Given the description of an element on the screen output the (x, y) to click on. 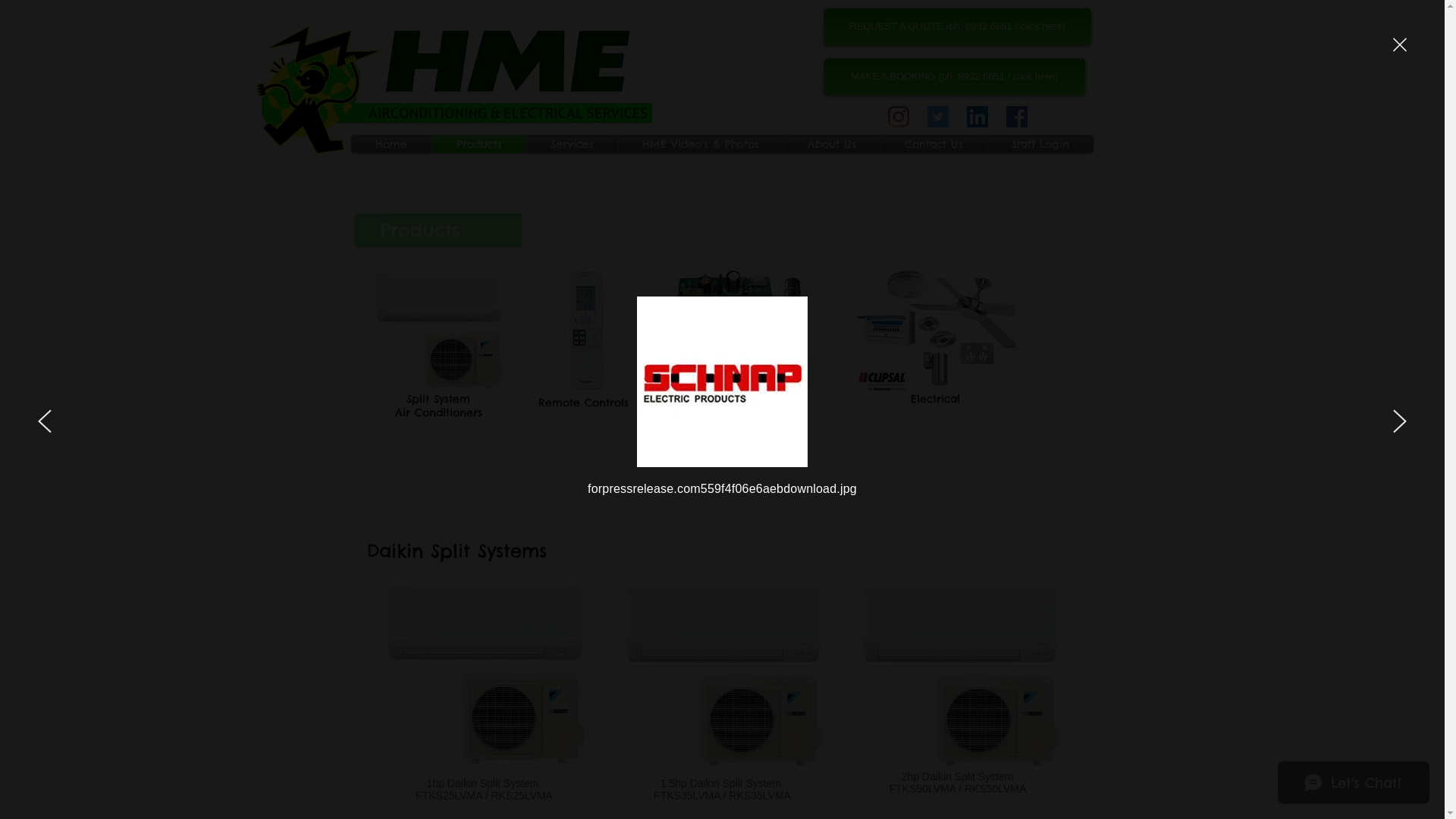
Contact Us Element type: text (934, 143)
About Us Element type: text (832, 143)
  Element type: hover (484, 673)
Services Element type: text (571, 143)
MAKE A BOOKING (ph: 8932 6651 / click here) Element type: text (953, 75)
Products Element type: text (479, 143)
Staff Login Element type: text (1039, 143)
HME Video's & Photos Element type: text (700, 143)
REQUEST A QUOTE (ph: 8932 6651 / click here) Element type: text (956, 25)
Home Element type: text (390, 143)
